Given the description of an element on the screen output the (x, y) to click on. 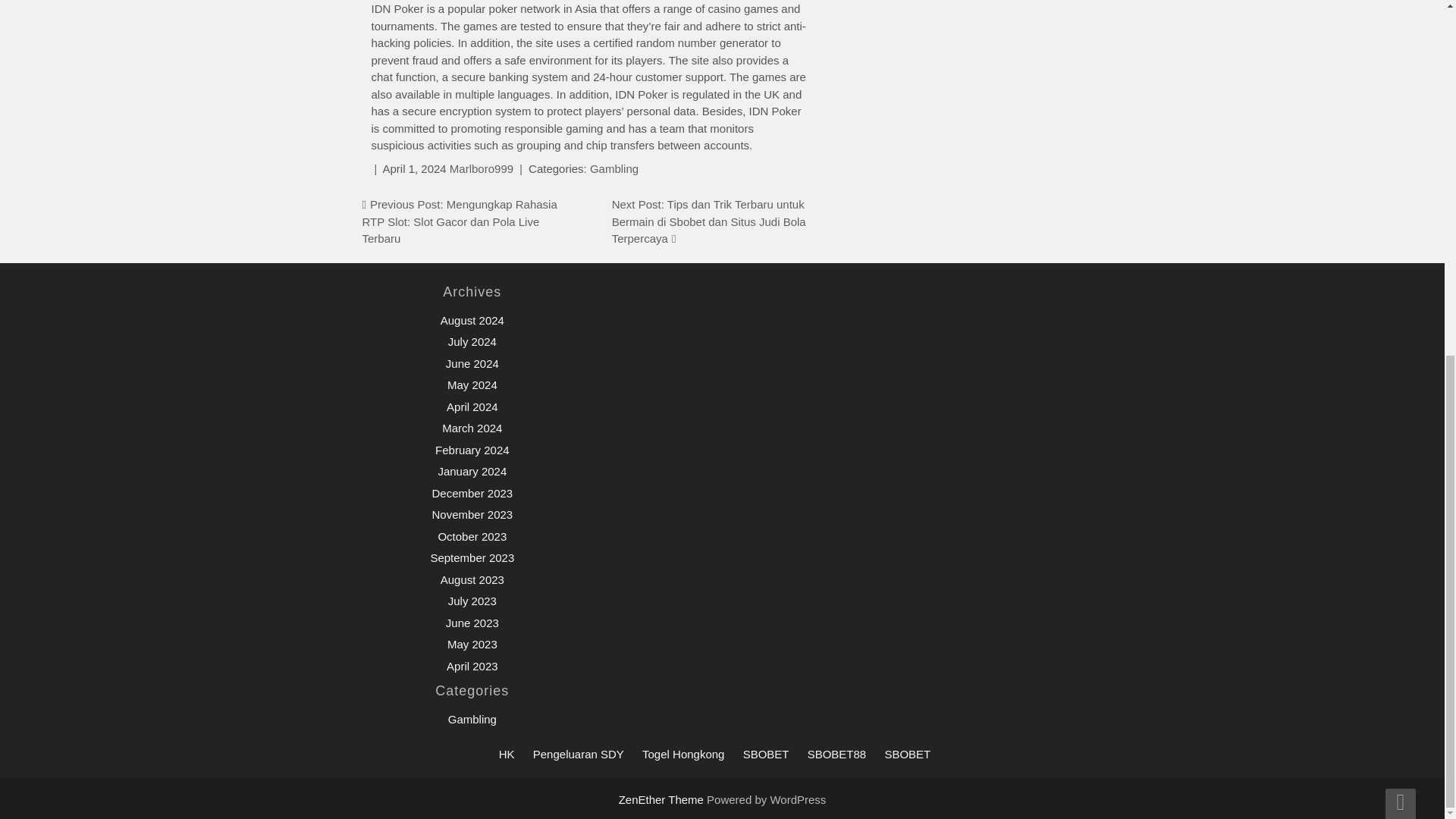
Togel Hongkong (682, 753)
May 2024 (471, 384)
June 2023 (472, 622)
Gambling (472, 718)
July 2023 (472, 600)
April 2024 (471, 406)
February 2024 (472, 449)
May 2023 (471, 644)
March 2024 (472, 427)
Posts by Marlboro999 (481, 168)
April 2023 (471, 666)
September 2023 (471, 557)
June 2024 (472, 363)
ZenEther Theme (662, 799)
